Given the description of an element on the screen output the (x, y) to click on. 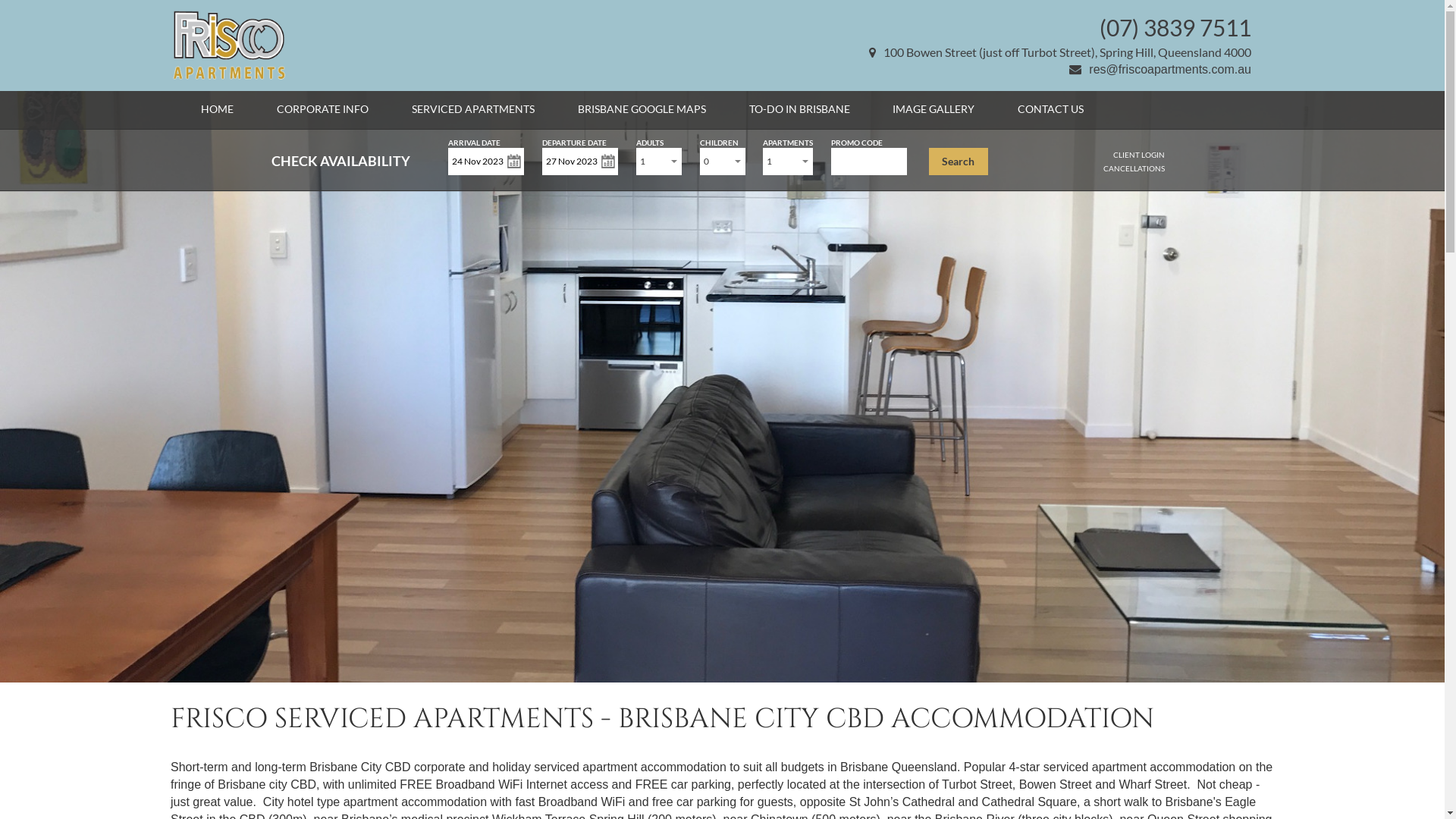
SERVICED APARTMENTS Element type: text (472, 109)
CORPORATE INFO Element type: text (322, 109)
CLIENT LOGIN Element type: text (1138, 154)
BRISBANE GOOGLE MAPS Element type: text (641, 109)
IMAGE GALLERY Element type: text (933, 109)
Search Element type: text (958, 161)
HOME Element type: text (216, 109)
CONTACT US Element type: text (1050, 109)
(07) 3839 7511 Element type: text (1175, 26)
CANCELLATIONS Element type: text (1133, 167)
res@friscoapartments.com.au Element type: text (1160, 68)
TO-DO IN BRISBANE Element type: text (799, 109)
